Given the description of an element on the screen output the (x, y) to click on. 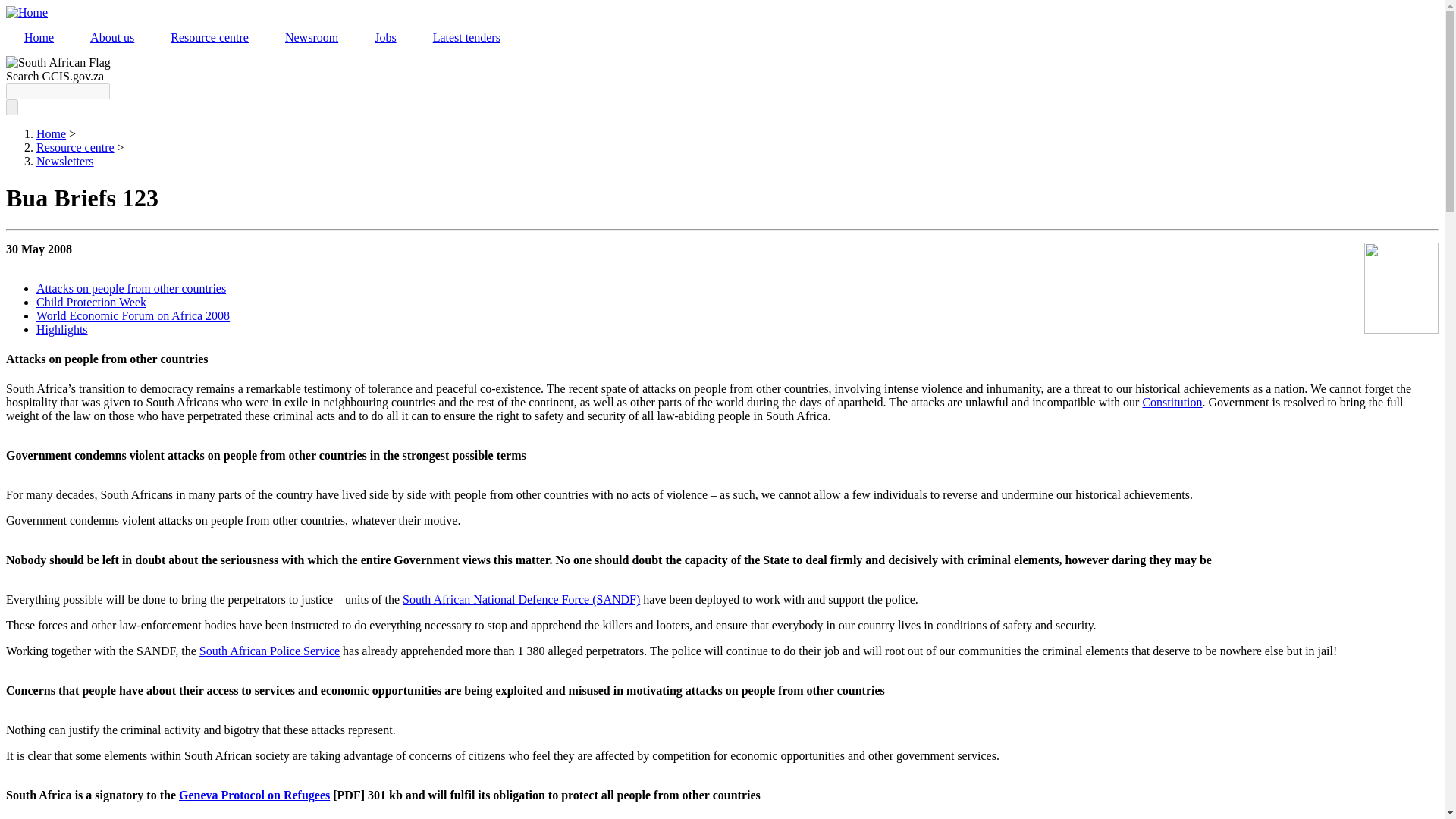
Newsroom (311, 37)
Geneva Protocol on Refugees (254, 794)
Home (38, 37)
Ouside link - Opens in new window (269, 650)
Constitution (1171, 401)
Home (50, 133)
Enter the terms you wish to search for. (57, 91)
Highlights (61, 328)
About us (111, 37)
Resource centre (75, 146)
Ouside link - Opens in new window (1171, 401)
Jobs (384, 37)
Newsletters (65, 160)
South African Police Service (269, 650)
